Given the description of an element on the screen output the (x, y) to click on. 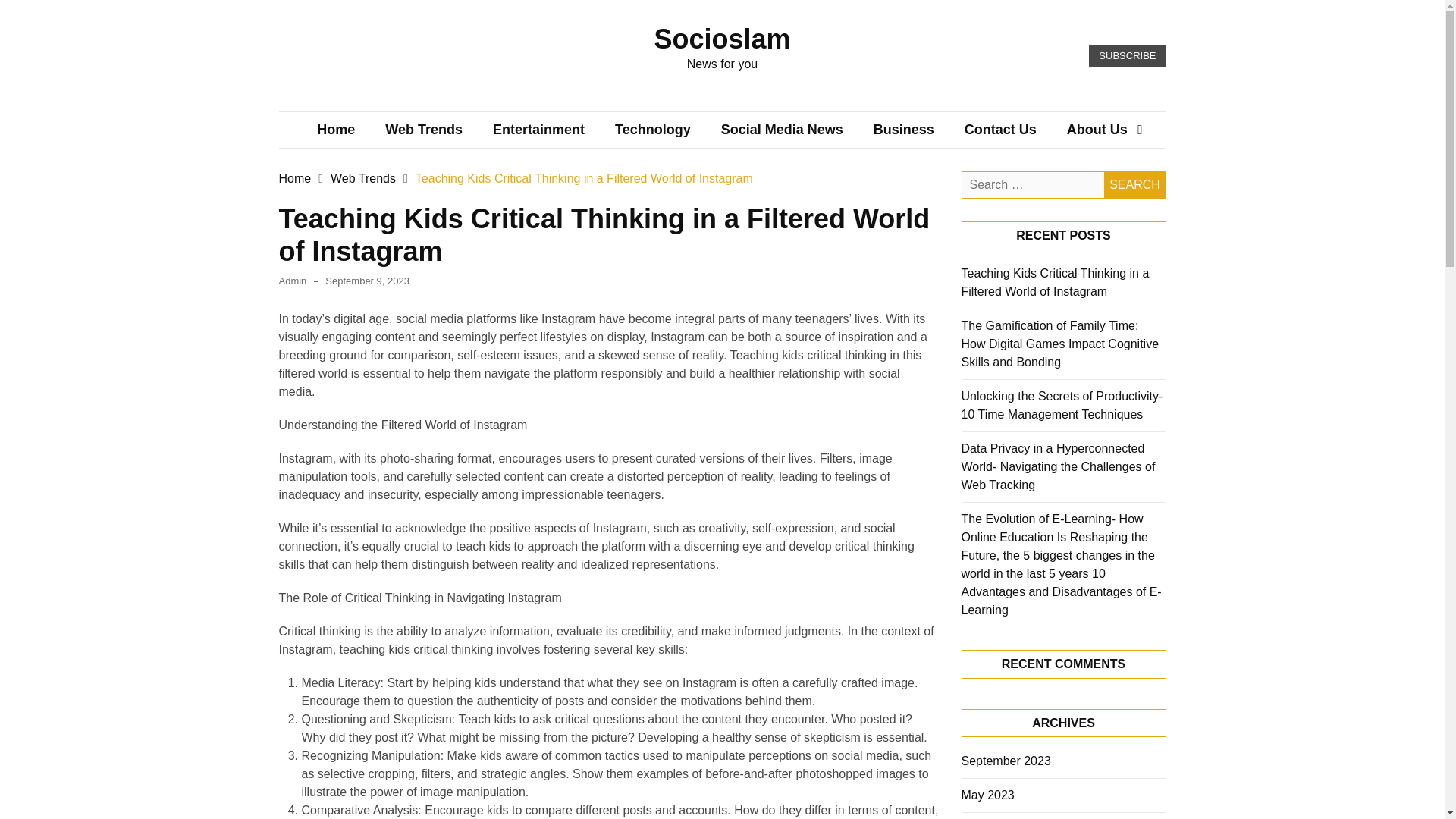
Technology (652, 129)
SUBSCRIBE (1127, 56)
Web Trends (363, 178)
Social Media News (782, 129)
Admin (293, 280)
Search (1134, 185)
Home (335, 129)
Contact Us (1000, 129)
Web Trends (423, 129)
Home (295, 178)
Business (904, 129)
Entertainment (538, 129)
Search (1134, 185)
About Us (1096, 129)
Socioslam (721, 38)
